Given the description of an element on the screen output the (x, y) to click on. 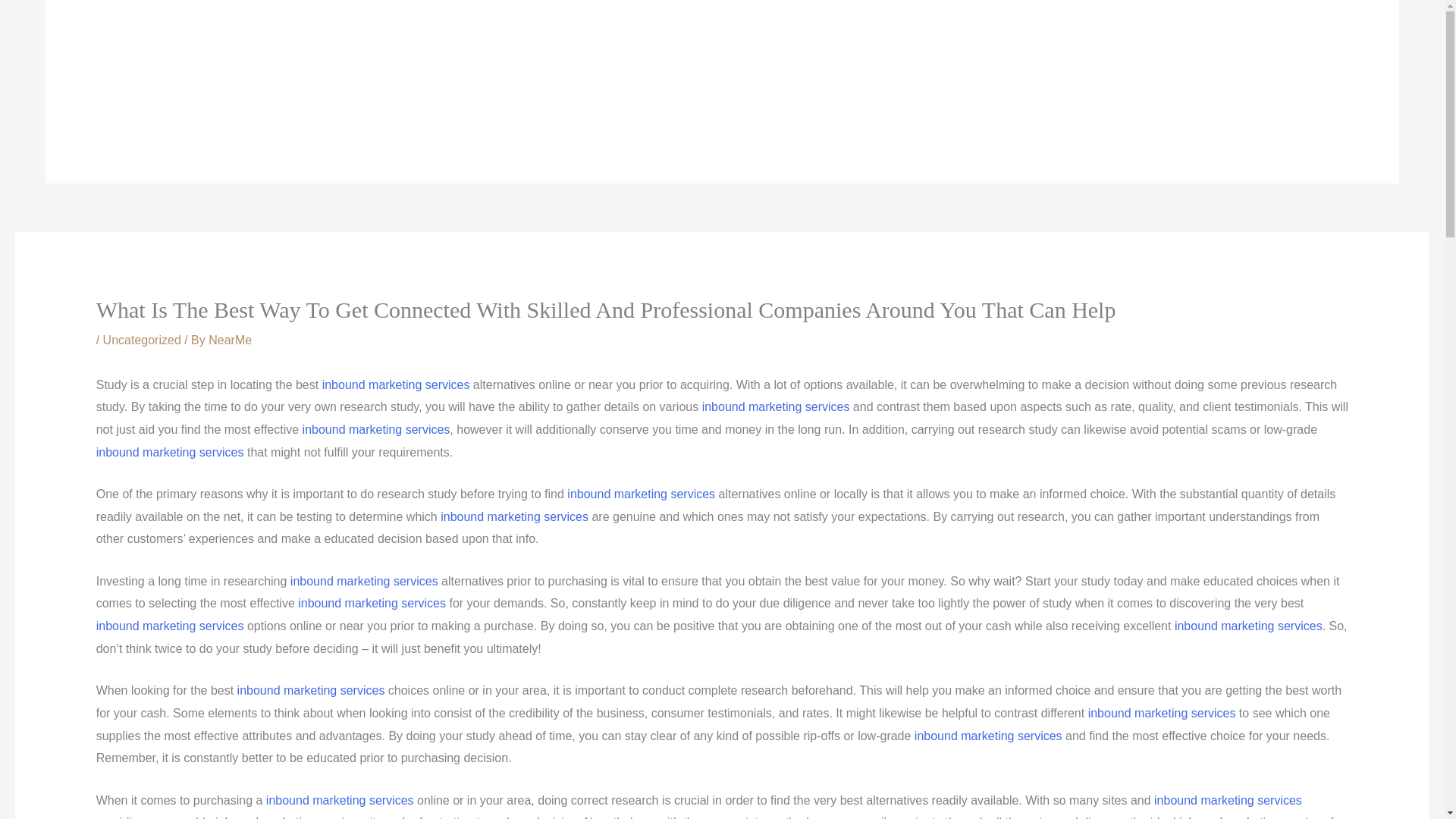
Uncategorized (141, 339)
inbound marketing services (339, 799)
inbound marketing services (371, 603)
inbound marketing services (375, 429)
inbound marketing services (395, 384)
inbound marketing services (363, 581)
NearMe (229, 339)
WINES (842, 91)
HOME (483, 91)
inbound marketing services (1248, 625)
GRILLS (598, 91)
HISTORY (539, 91)
inbound marketing services (288, 817)
View all posts by NearMe (229, 339)
inbound marketing services (1161, 712)
